Given the description of an element on the screen output the (x, y) to click on. 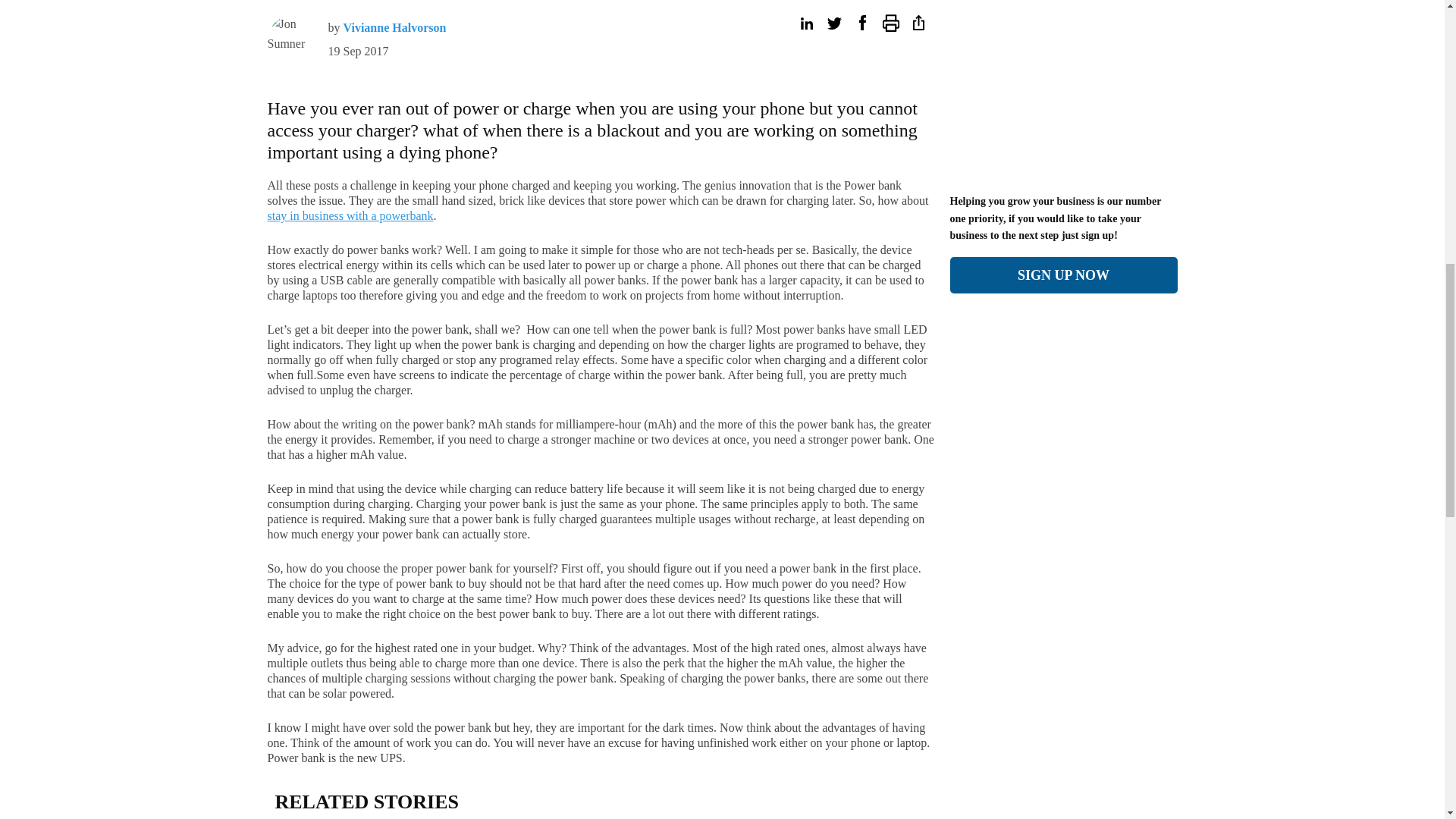
Share on LinkedIn (805, 22)
Print this article (890, 22)
Tweet this article (835, 22)
Share on Facebook (861, 22)
